Given the description of an element on the screen output the (x, y) to click on. 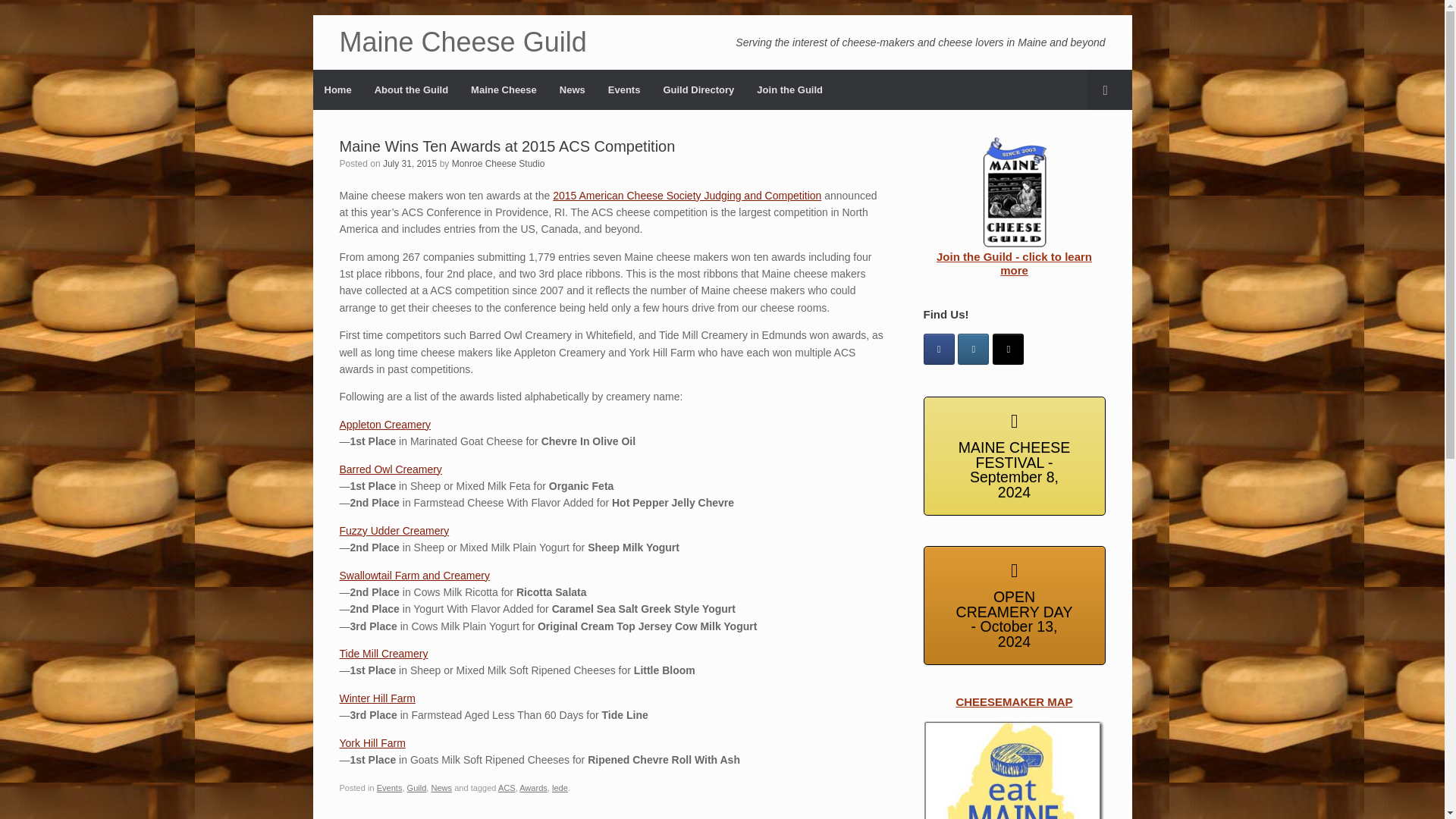
About MCG (411, 89)
Eat Maine Cheese (504, 89)
Home (337, 89)
Monroe Cheese Studio (497, 163)
Fuzzy Udder Creamery (394, 530)
CHEESEMAKER MAP (1014, 769)
News (572, 89)
Barred Owl Creamery (390, 469)
Appleton Creamery (384, 424)
July 31, 2015 (409, 163)
Maine Cheese Guild (462, 42)
Events (390, 787)
Maine Cheese (504, 89)
Guild Directory (697, 89)
View all posts by Monroe Cheese Studio (497, 163)
